Given the description of an element on the screen output the (x, y) to click on. 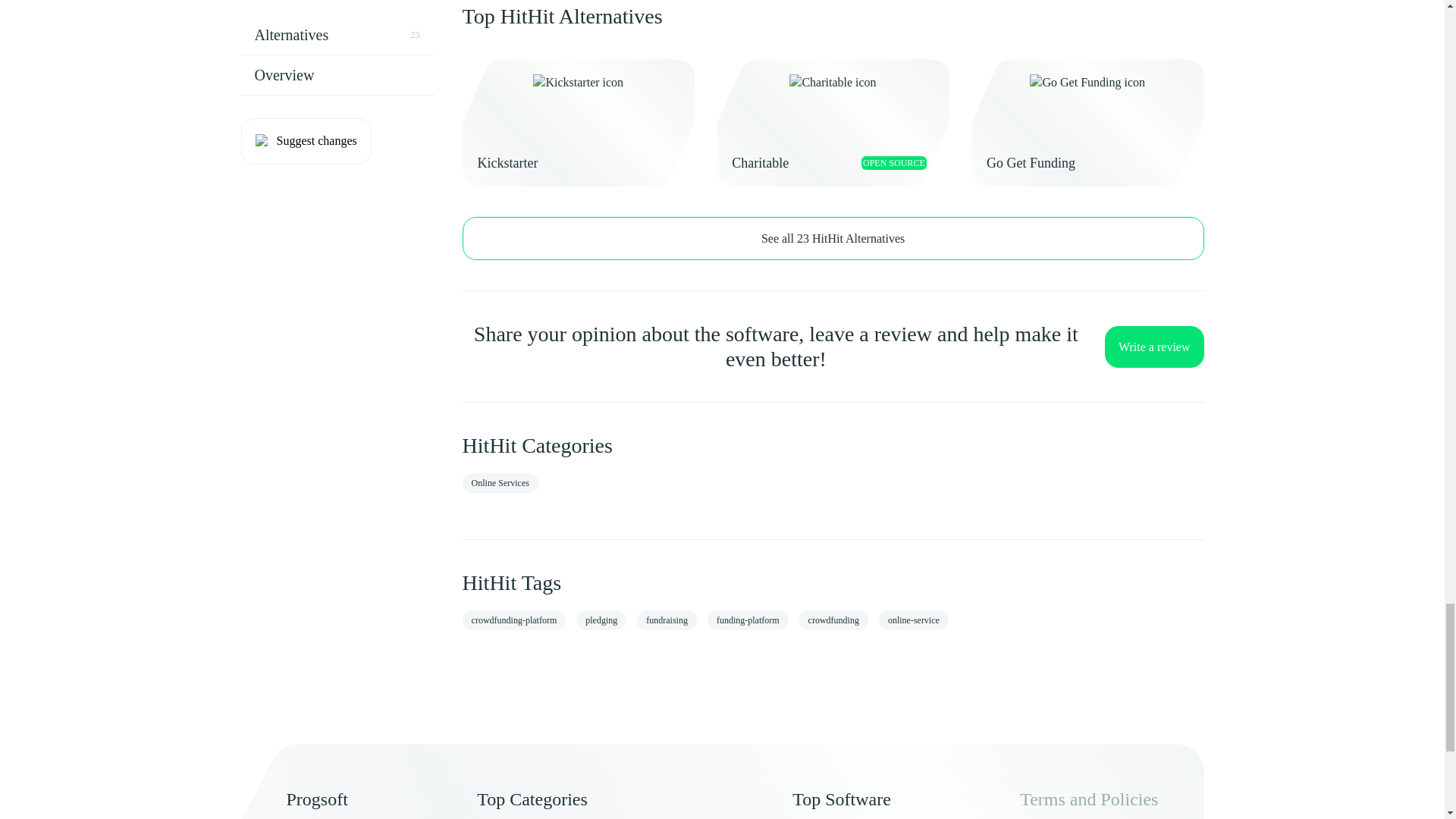
Go to Online Services (500, 483)
